Given the description of an element on the screen output the (x, y) to click on. 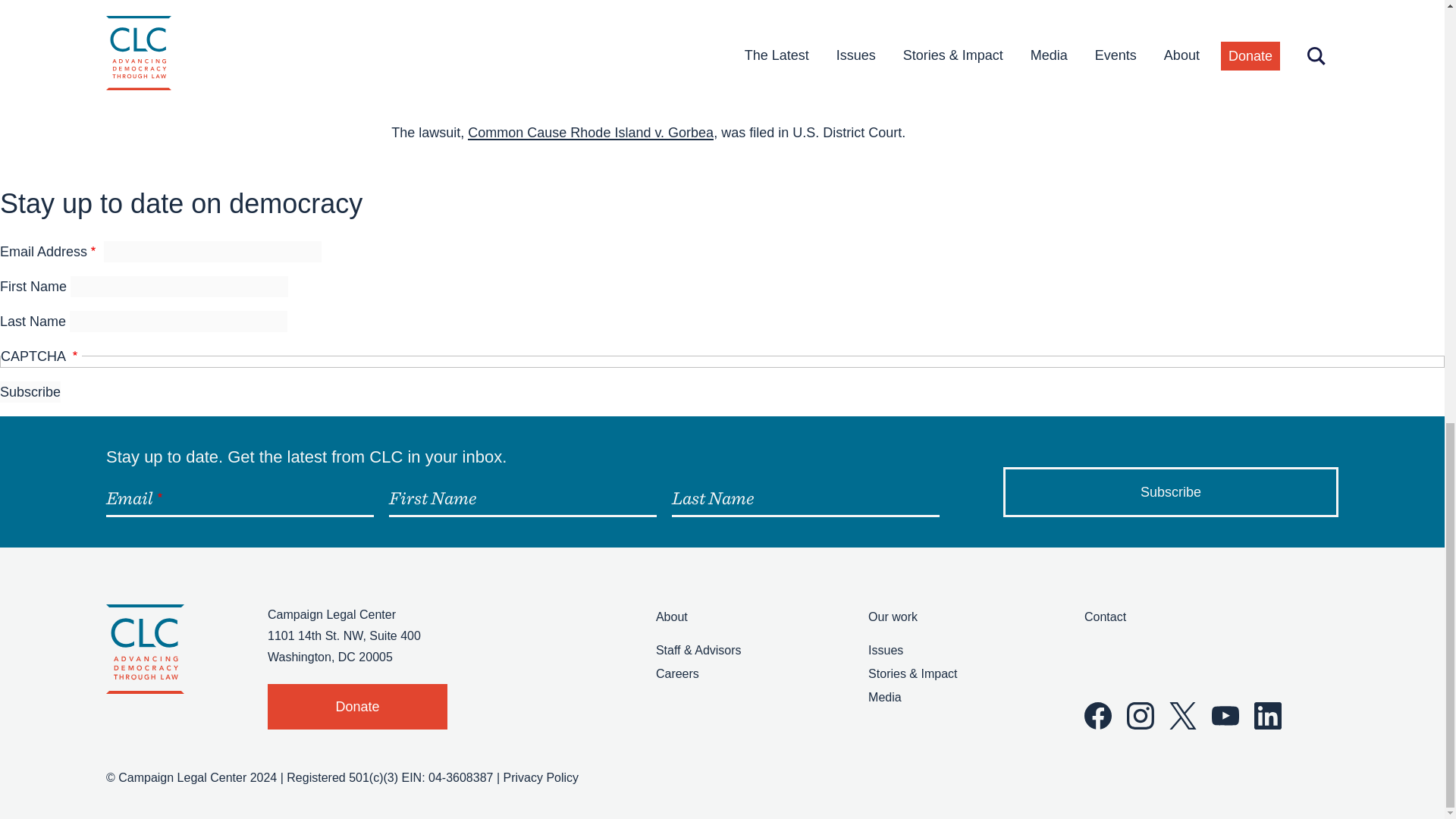
Careers (677, 673)
Subscribe (30, 391)
Contact (1104, 616)
Media (884, 697)
Common Cause Rhode Island v. Gorbea (590, 132)
Donate (356, 706)
About (671, 616)
Careers (677, 673)
Subscribe (1170, 491)
Facebook (1098, 715)
Issues (884, 649)
About CLC (671, 616)
Subscribe (1170, 491)
Subscribe (30, 391)
